Given the description of an element on the screen output the (x, y) to click on. 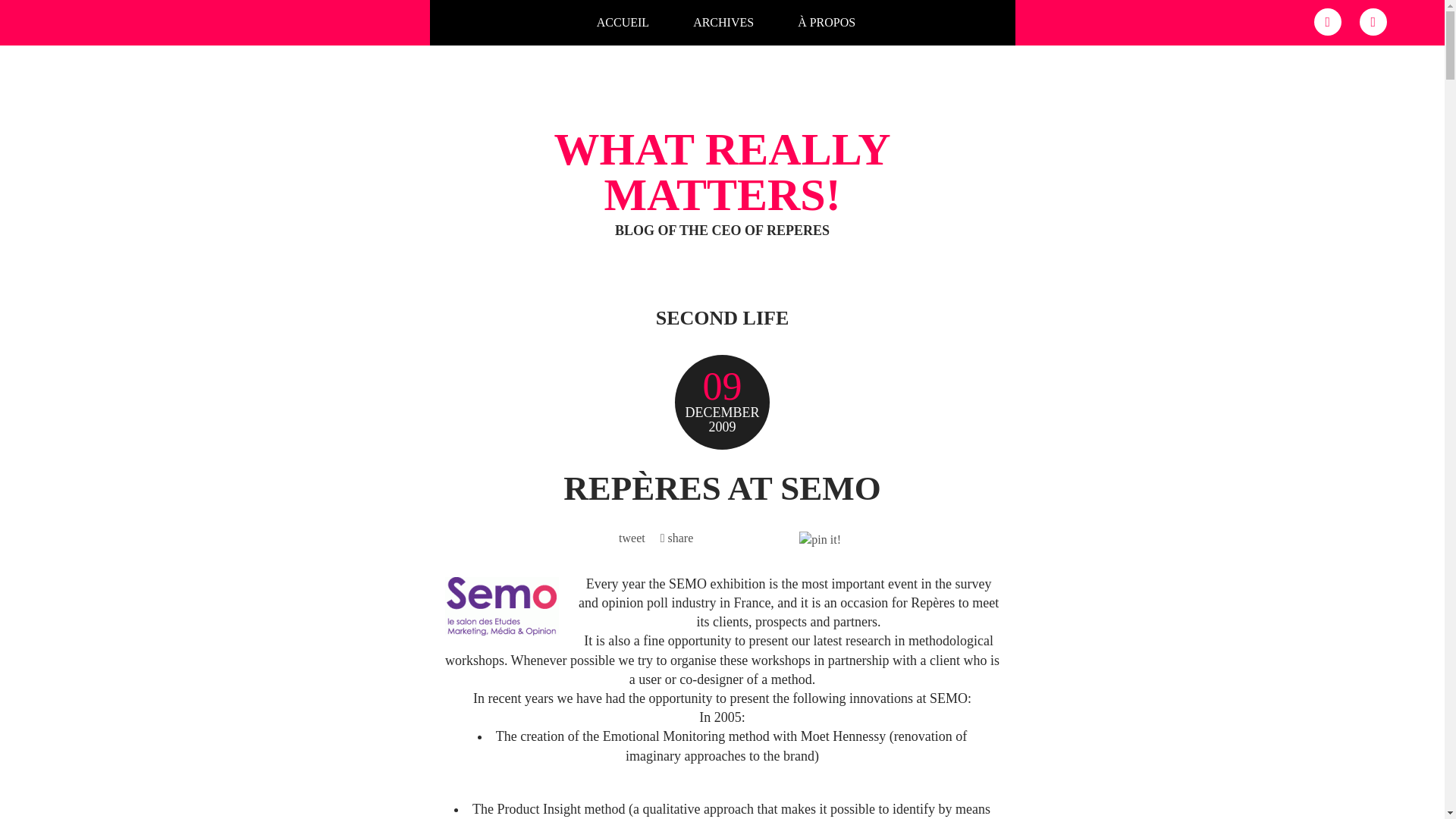
tweet (631, 537)
share (677, 537)
WHAT REALLY MATTERS! (721, 172)
Email (1373, 22)
LinkedIn (1327, 22)
LinkedIn (1327, 22)
ACCUEIL (622, 22)
Product Insight method (561, 808)
ARCHIVES (722, 22)
Email (1373, 22)
